Given the description of an element on the screen output the (x, y) to click on. 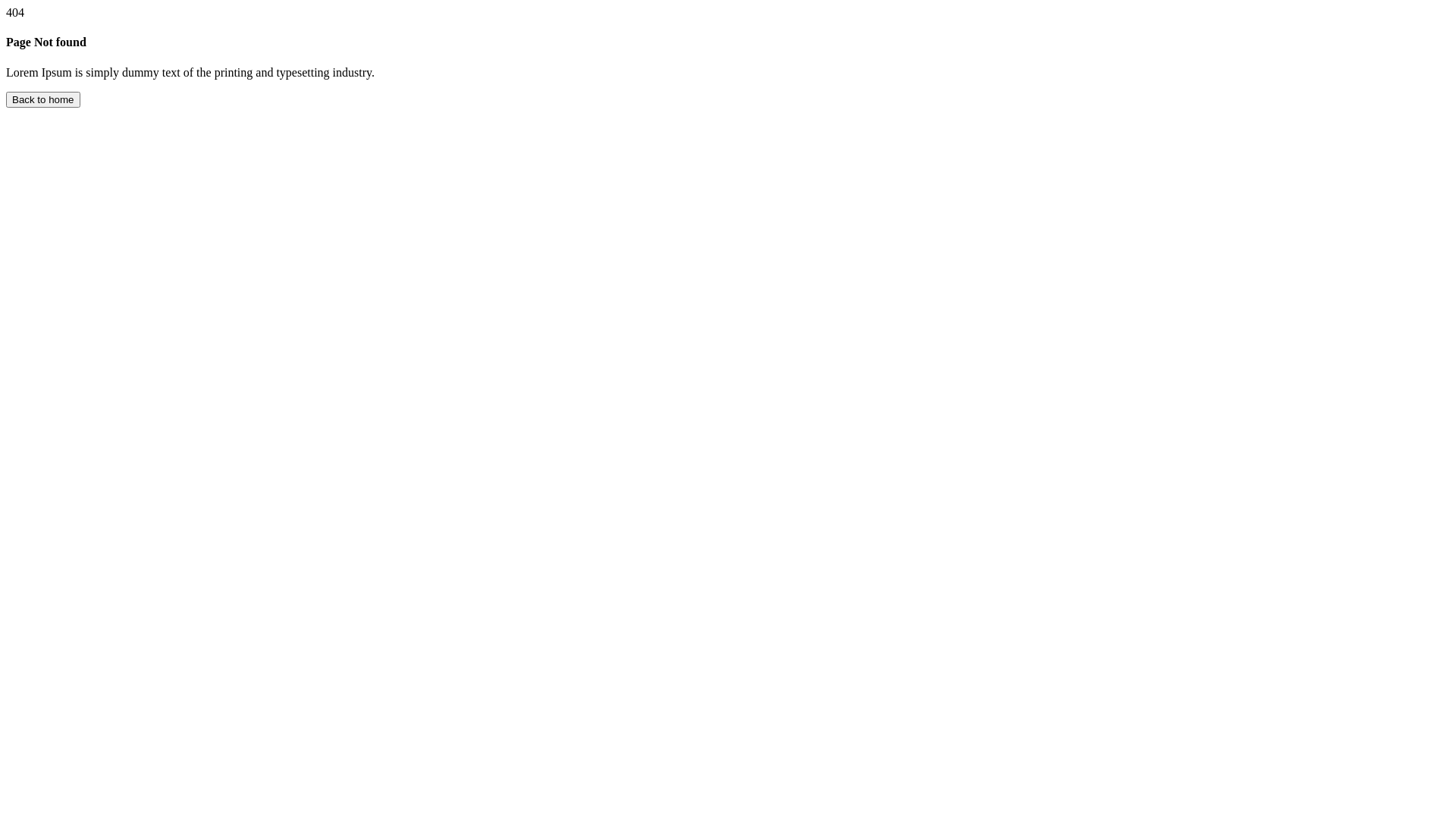
Back to home Element type: text (43, 99)
